Given the description of an element on the screen output the (x, y) to click on. 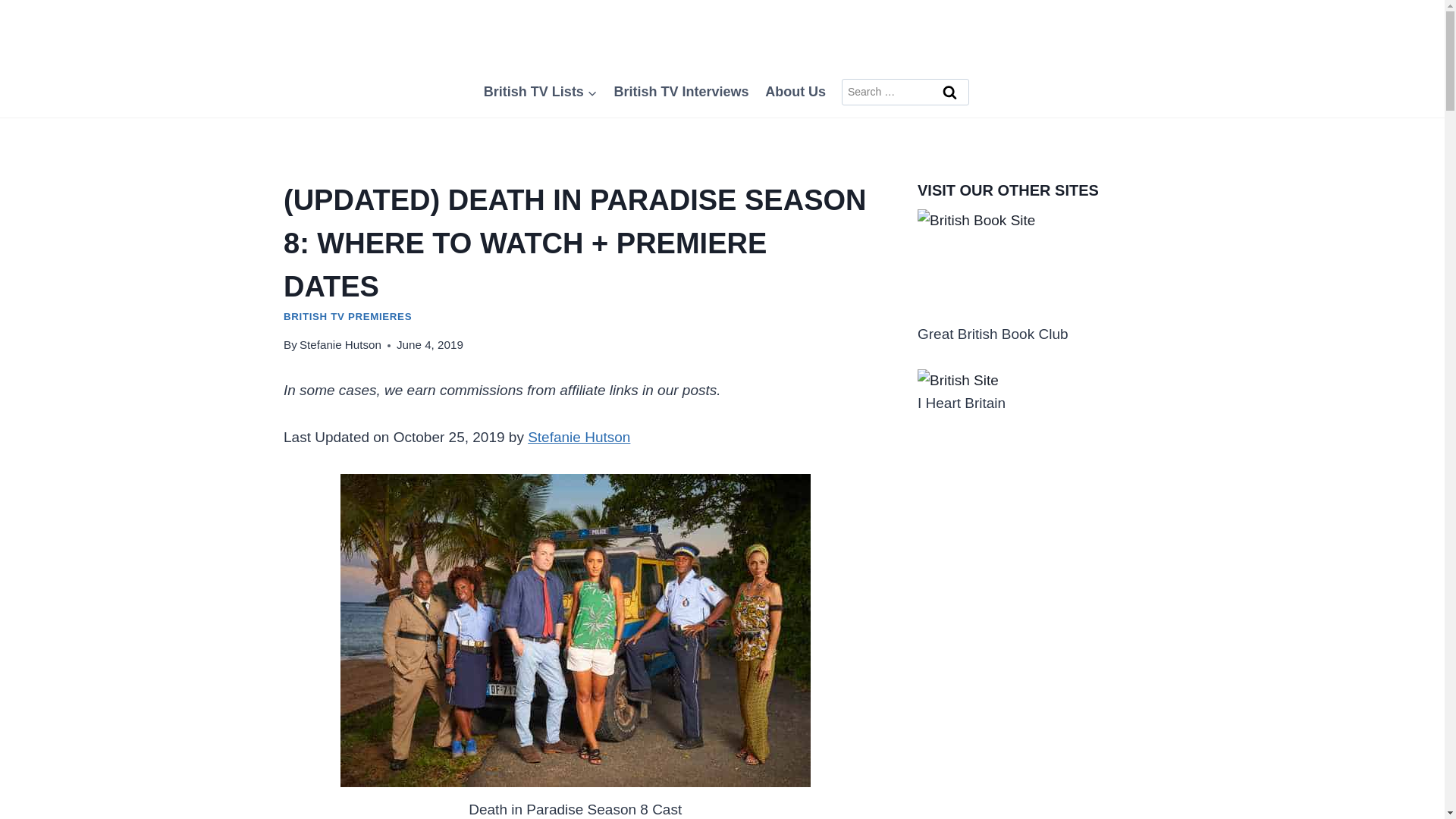
About Us (795, 91)
Search (950, 92)
Search (950, 92)
Stefanie Hutson (340, 344)
Stefanie Hutson (578, 437)
British TV Interviews (681, 91)
British TV Lists (540, 91)
Search (950, 92)
BRITISH TV PREMIERES (347, 316)
